Given the description of an element on the screen output the (x, y) to click on. 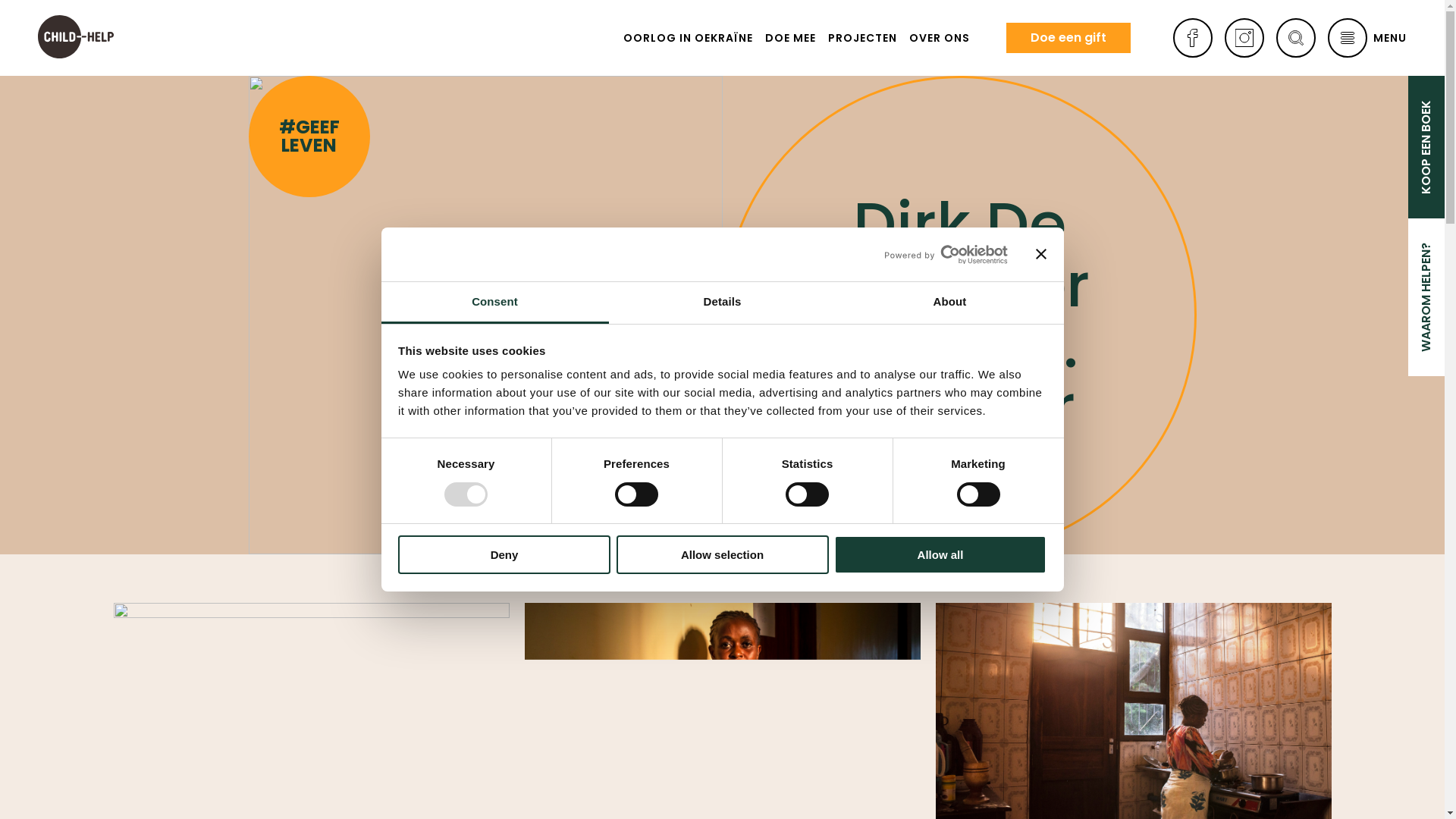
Deny Element type: text (504, 554)
Allow selection Element type: text (721, 554)
Allow all Element type: text (940, 554)
Consent Element type: text (494, 303)
OVER ONS Element type: text (939, 37)
PROJECTEN Element type: text (862, 37)
Details Element type: text (721, 303)
DOE MEE Element type: text (790, 37)
Doe een gift Element type: text (1068, 37)
Dirk De Wachter vertelt... klik hier Element type: text (958, 314)
About Element type: text (949, 303)
